Given the description of an element on the screen output the (x, y) to click on. 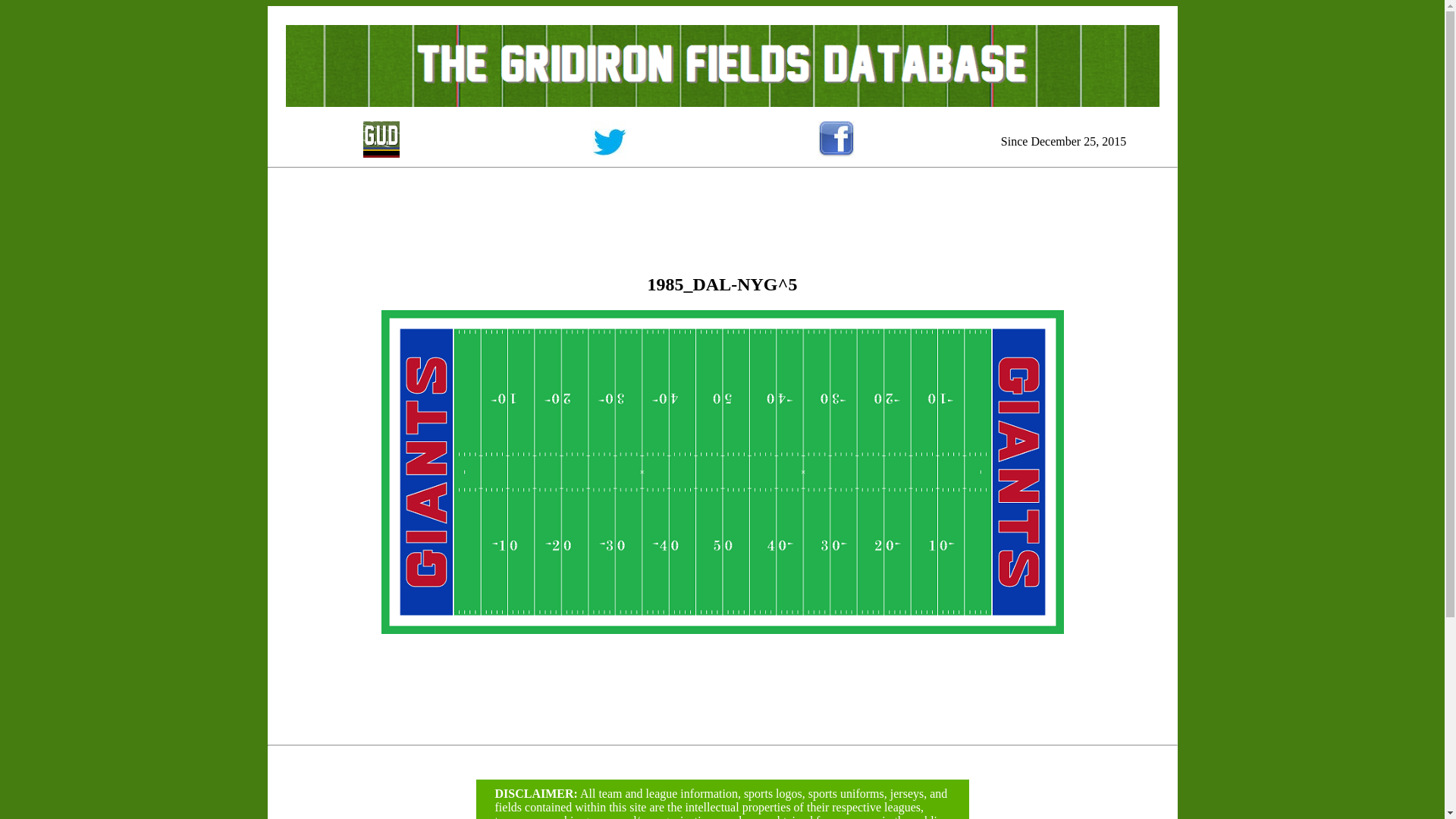
Advertisement (316, 510)
Advertisement (721, 208)
Advertisement (1128, 510)
